Given the description of an element on the screen output the (x, y) to click on. 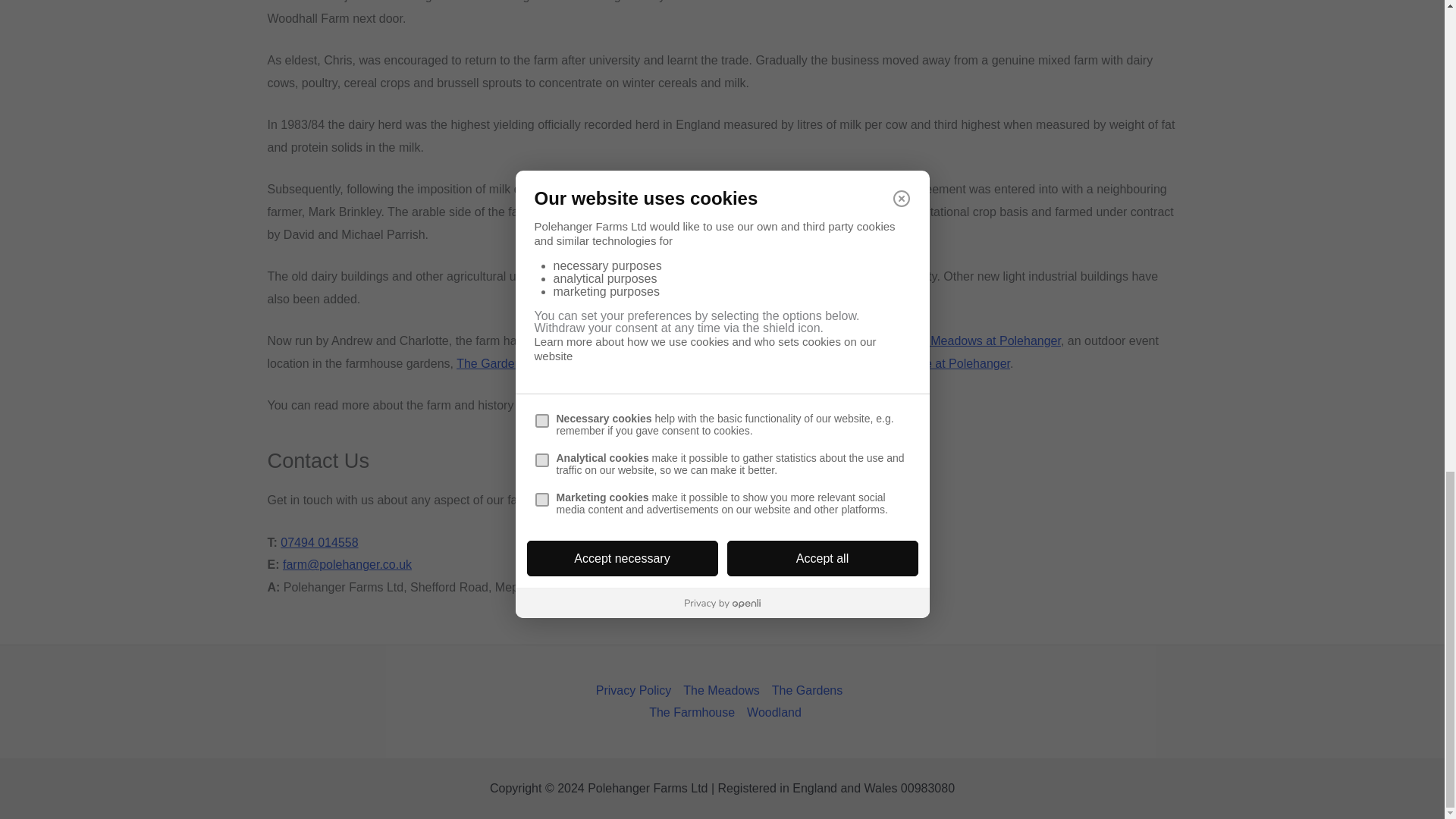
The Gardens at Polehanger (531, 363)
Woodland (771, 712)
07494 014558 (319, 542)
Privacy Policy (636, 690)
The Gardens (806, 690)
The Meadows (721, 690)
farm diary blog (590, 404)
The Meadows at Polehanger (983, 340)
The Farmhouse at Polehanger (927, 363)
The Farmhouse (692, 712)
